Given the description of an element on the screen output the (x, y) to click on. 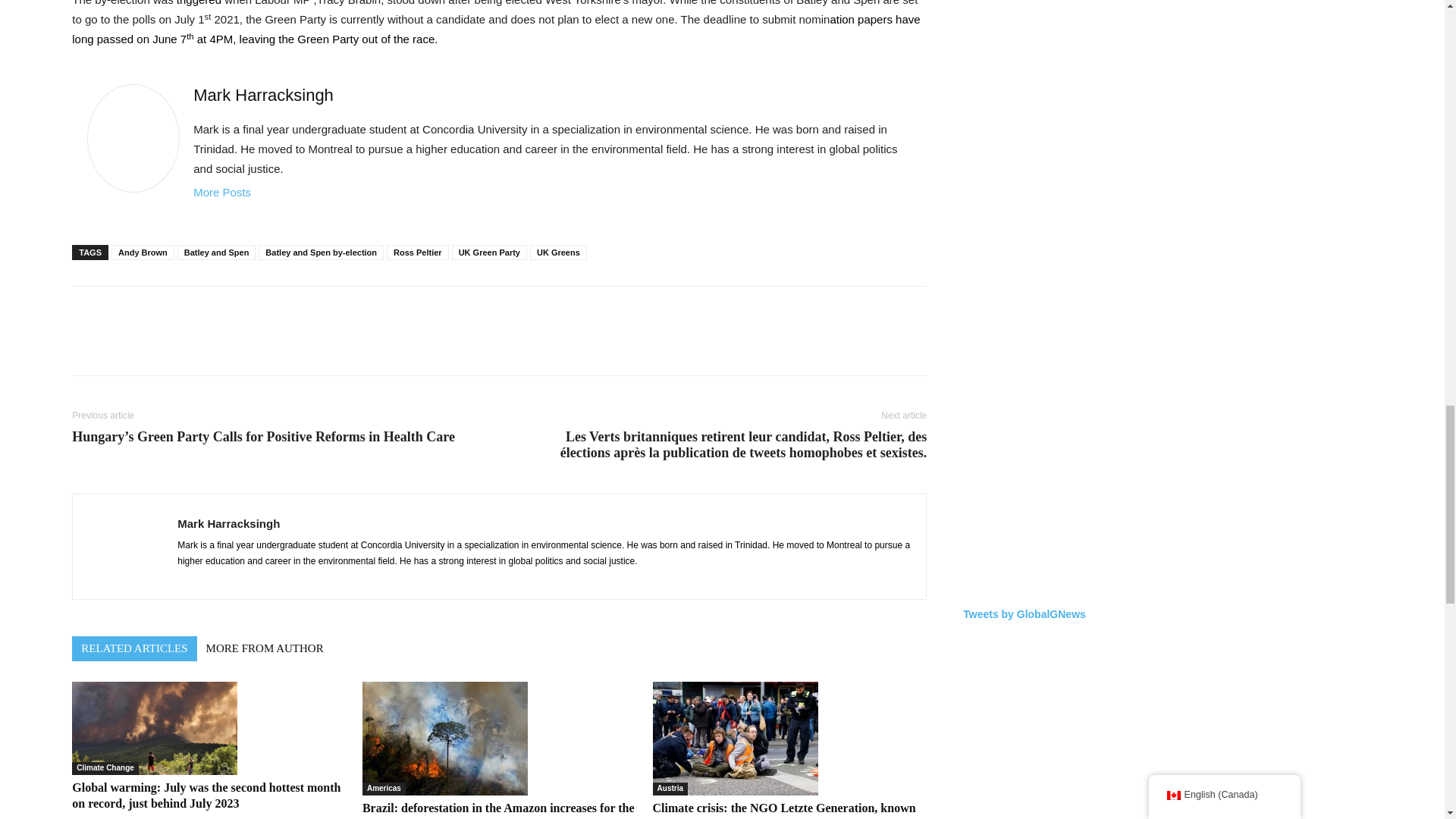
More posts by Mark Harracksingh (221, 192)
Mark Harracksingh (263, 94)
